Given the description of an element on the screen output the (x, y) to click on. 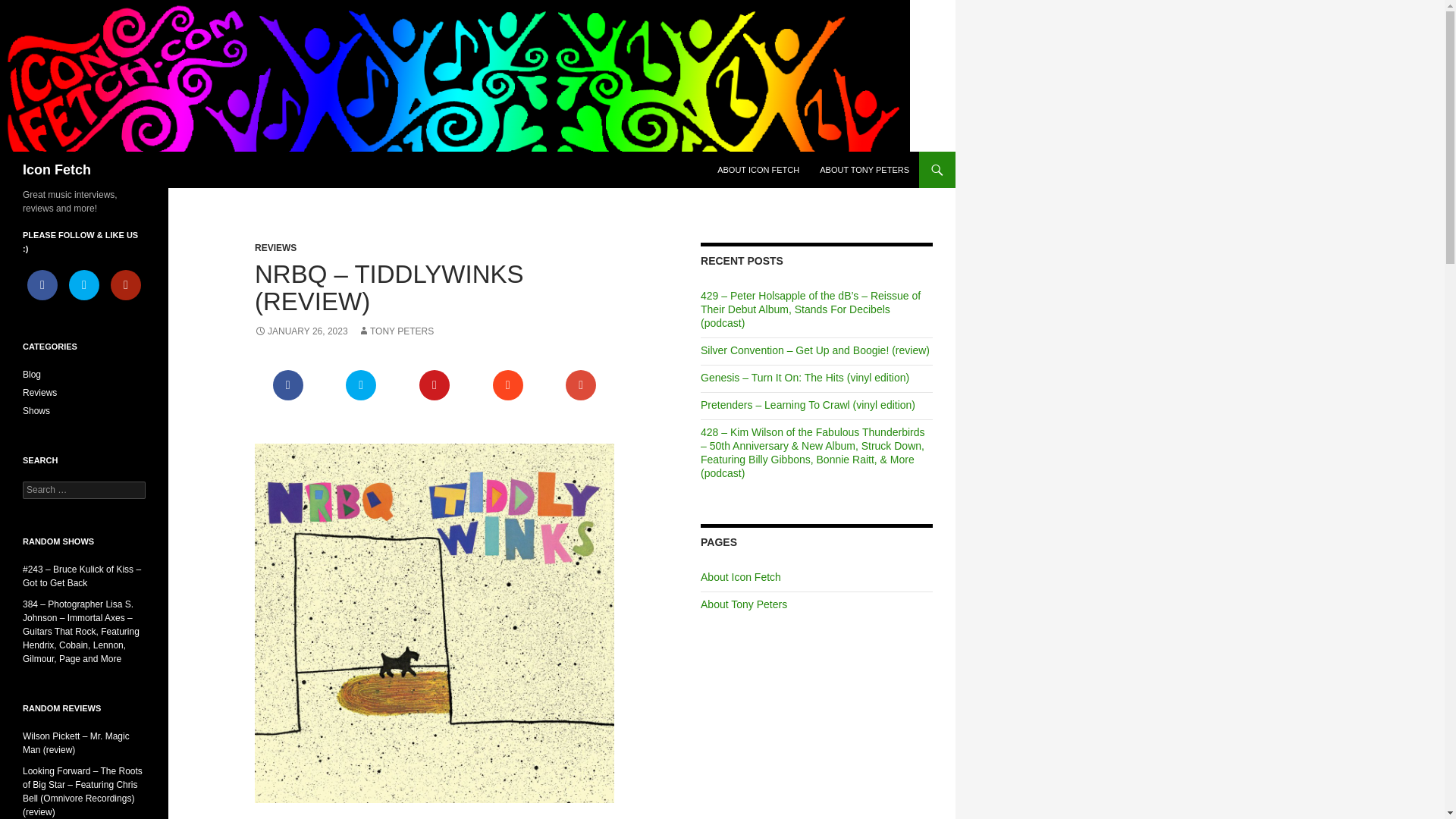
Icon Fetch (56, 169)
ABOUT TONY PETERS (864, 169)
REVIEWS (275, 247)
Reviews (39, 392)
Blog (31, 374)
About Icon Fetch (740, 576)
ABOUT ICON FETCH (757, 169)
About Tony Peters (743, 604)
Shows (36, 410)
TONY PETERS (395, 330)
JANUARY 26, 2023 (300, 330)
Search (30, 8)
